Given the description of an element on the screen output the (x, y) to click on. 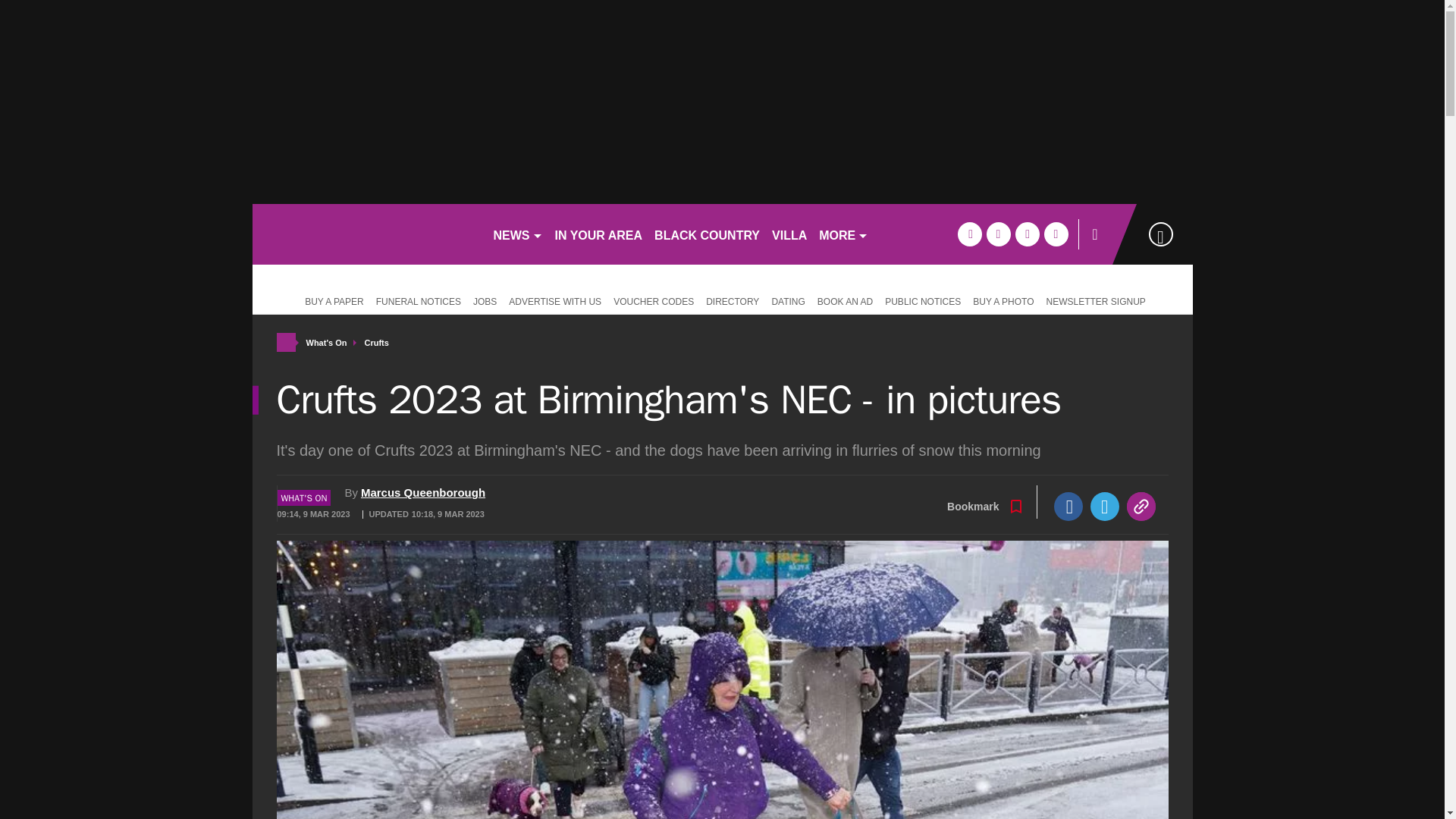
birminghammail (365, 233)
IN YOUR AREA (598, 233)
MORE (843, 233)
twitter (997, 233)
tiktok (1026, 233)
Twitter (1104, 506)
facebook (968, 233)
instagram (1055, 233)
NEWS (517, 233)
Facebook (1068, 506)
BLACK COUNTRY (706, 233)
